Given the description of an element on the screen output the (x, y) to click on. 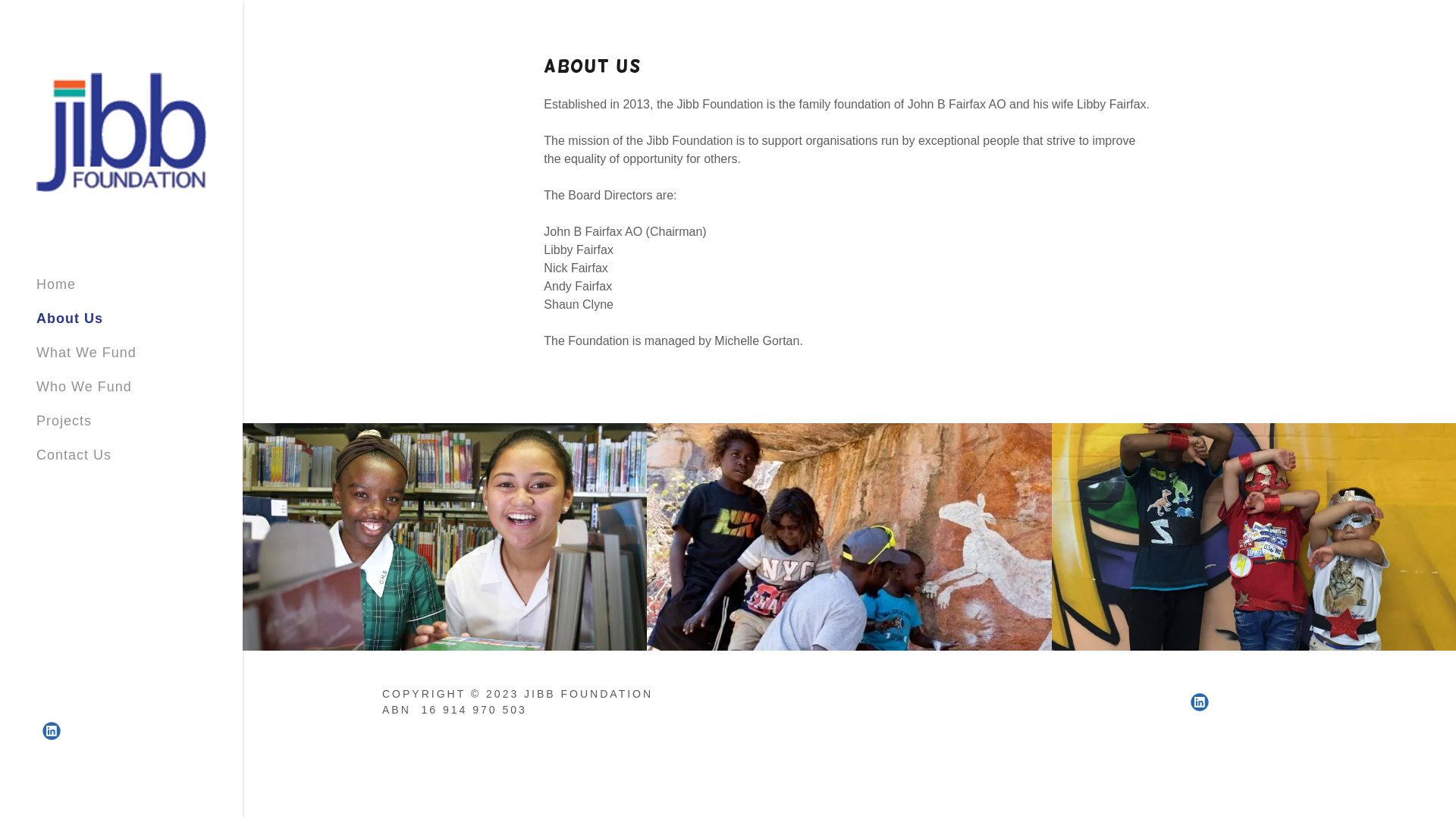
Contact Us Element type: text (73, 454)
Who We Fund Element type: text (83, 386)
About Us Element type: text (69, 318)
What We Fund Element type: text (86, 352)
Jibb Foundation Element type: hover (121, 130)
Projects Element type: text (63, 420)
Home Element type: text (55, 283)
